Given the description of an element on the screen output the (x, y) to click on. 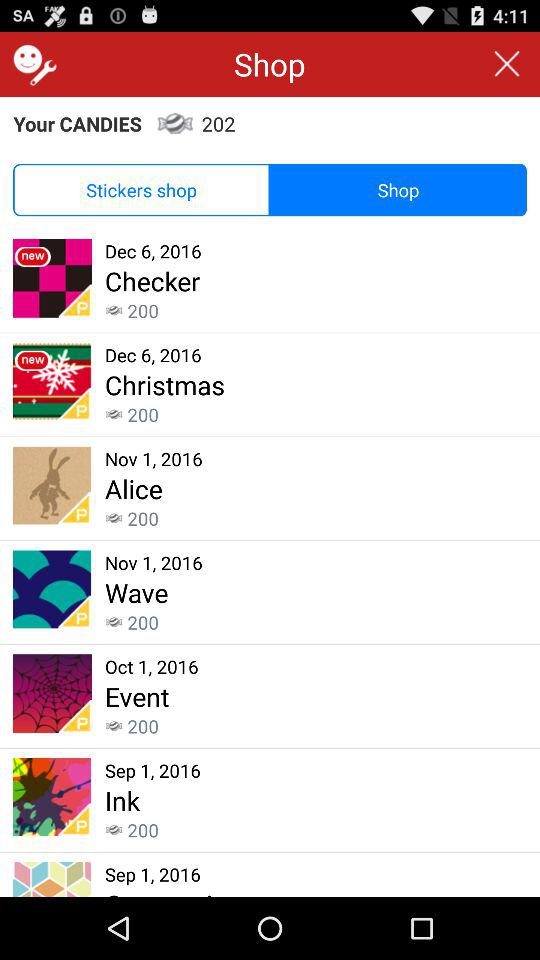
turn on event (137, 696)
